Given the description of an element on the screen output the (x, y) to click on. 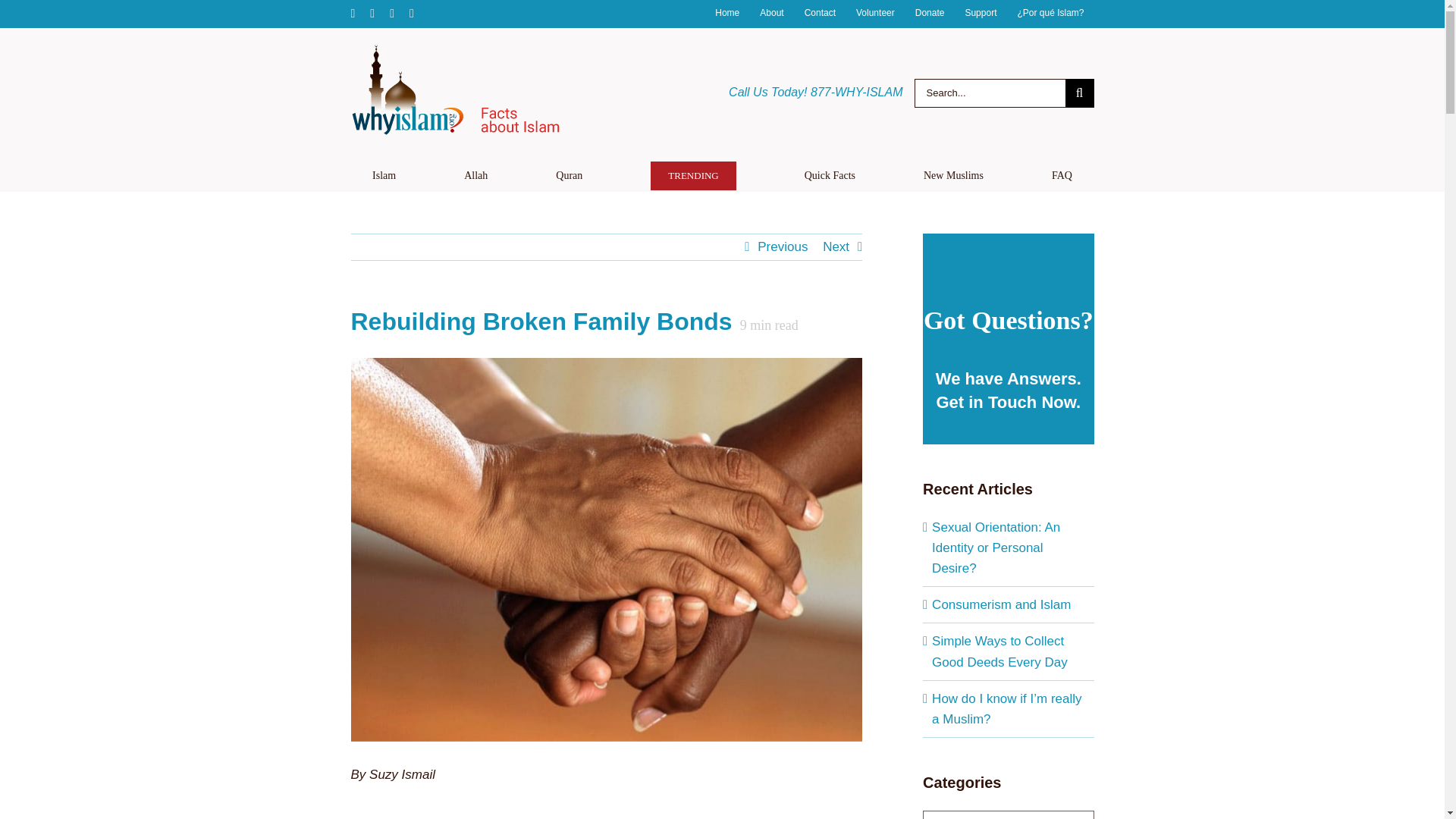
Donate (930, 13)
About (771, 13)
Volunteer (874, 13)
Support (980, 13)
Home (726, 13)
Contact (819, 13)
